Given the description of an element on the screen output the (x, y) to click on. 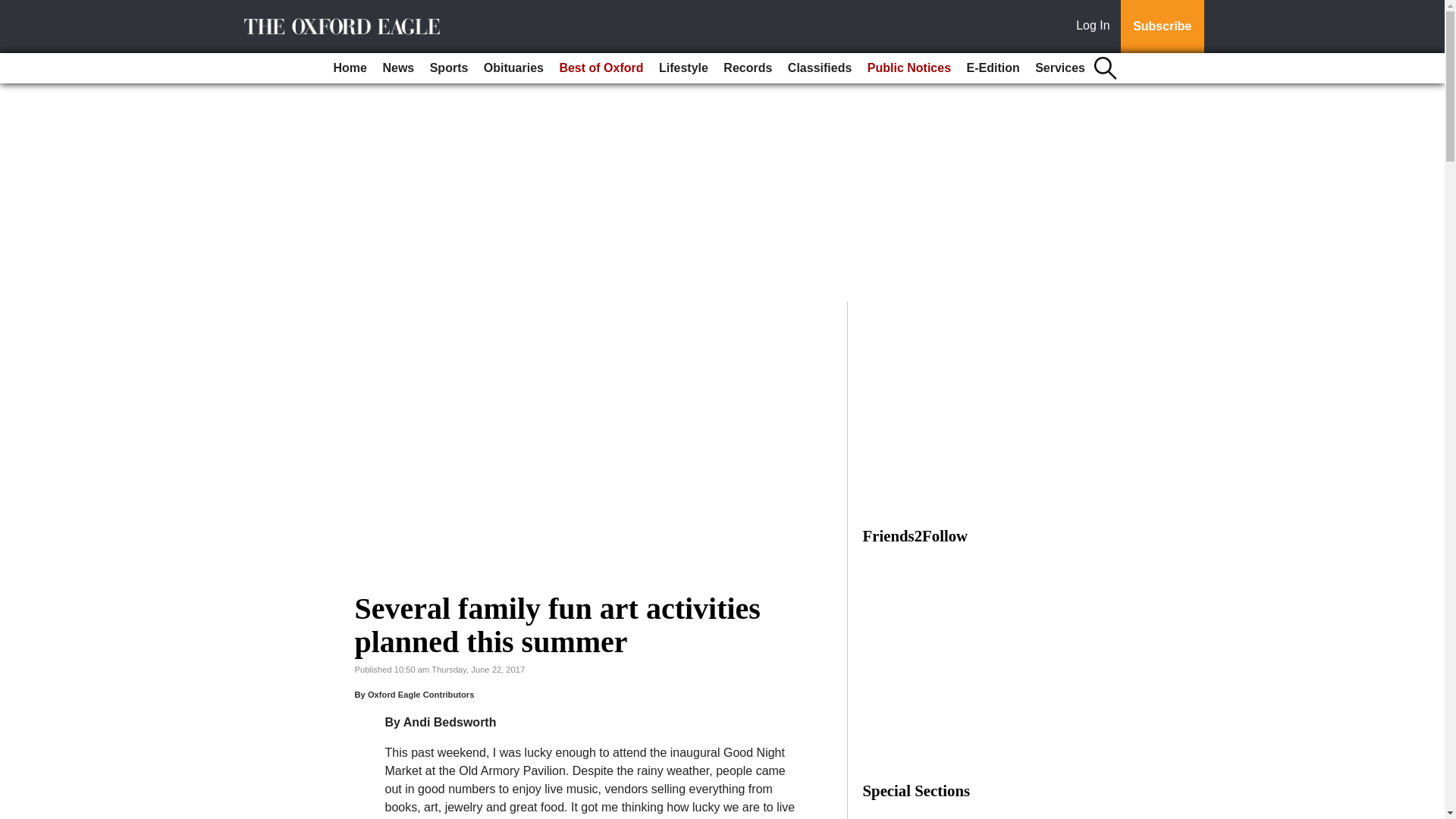
Obituaries (513, 68)
E-Edition (992, 68)
Records (747, 68)
Log In (1095, 26)
Home (349, 68)
Subscribe (1162, 26)
Public Notices (908, 68)
Services (1059, 68)
Classifieds (819, 68)
Sports (448, 68)
Oxford Eagle Contributors (421, 694)
Best of Oxford (601, 68)
Lifestyle (683, 68)
Go (13, 9)
News (397, 68)
